Given the description of an element on the screen output the (x, y) to click on. 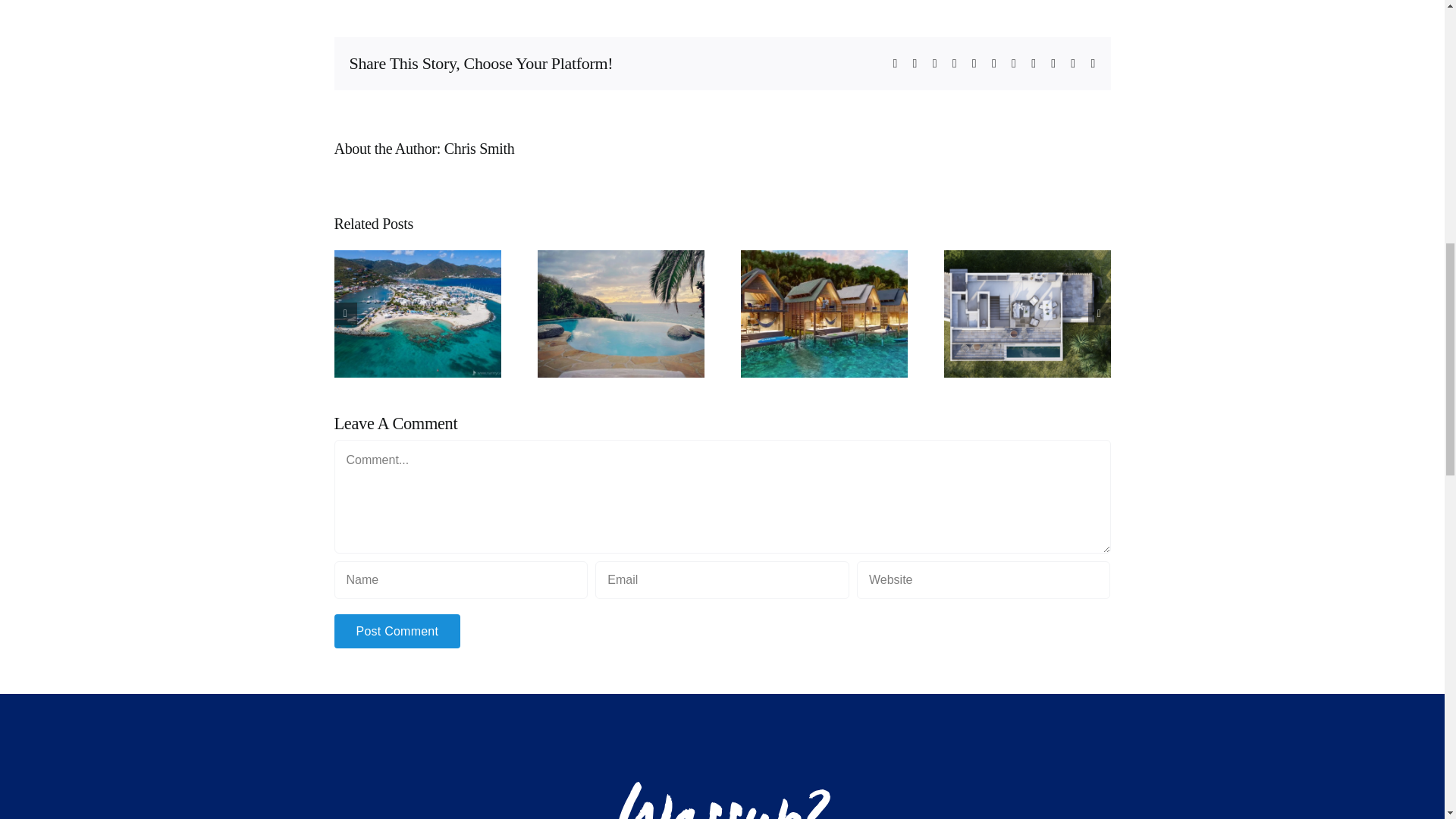
Posts by Chris Smith (479, 148)
Post Comment (396, 631)
